Given the description of an element on the screen output the (x, y) to click on. 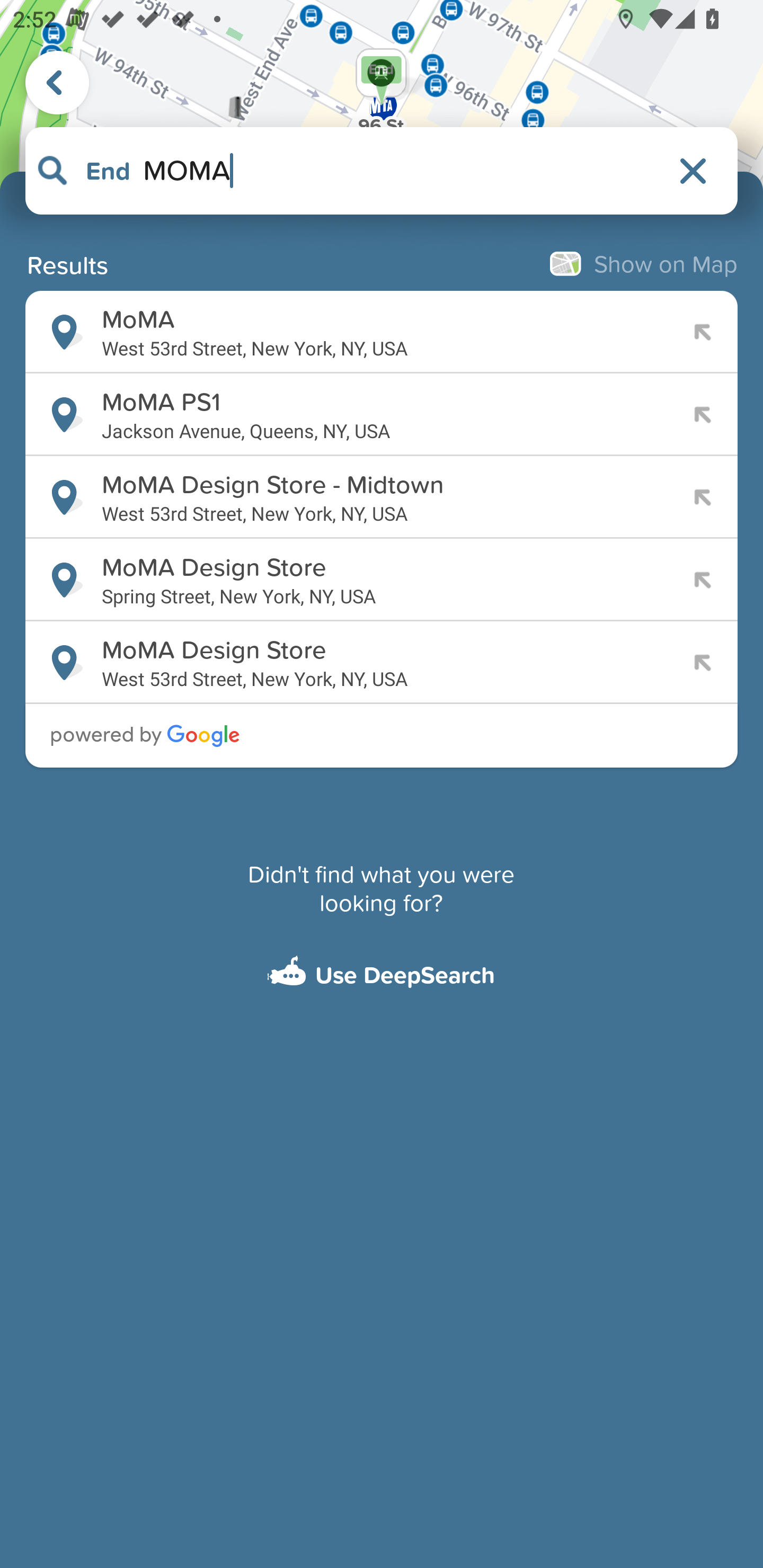
MoMA West 53rd Street, New York, NY, USA (381, 331)
